Given the description of an element on the screen output the (x, y) to click on. 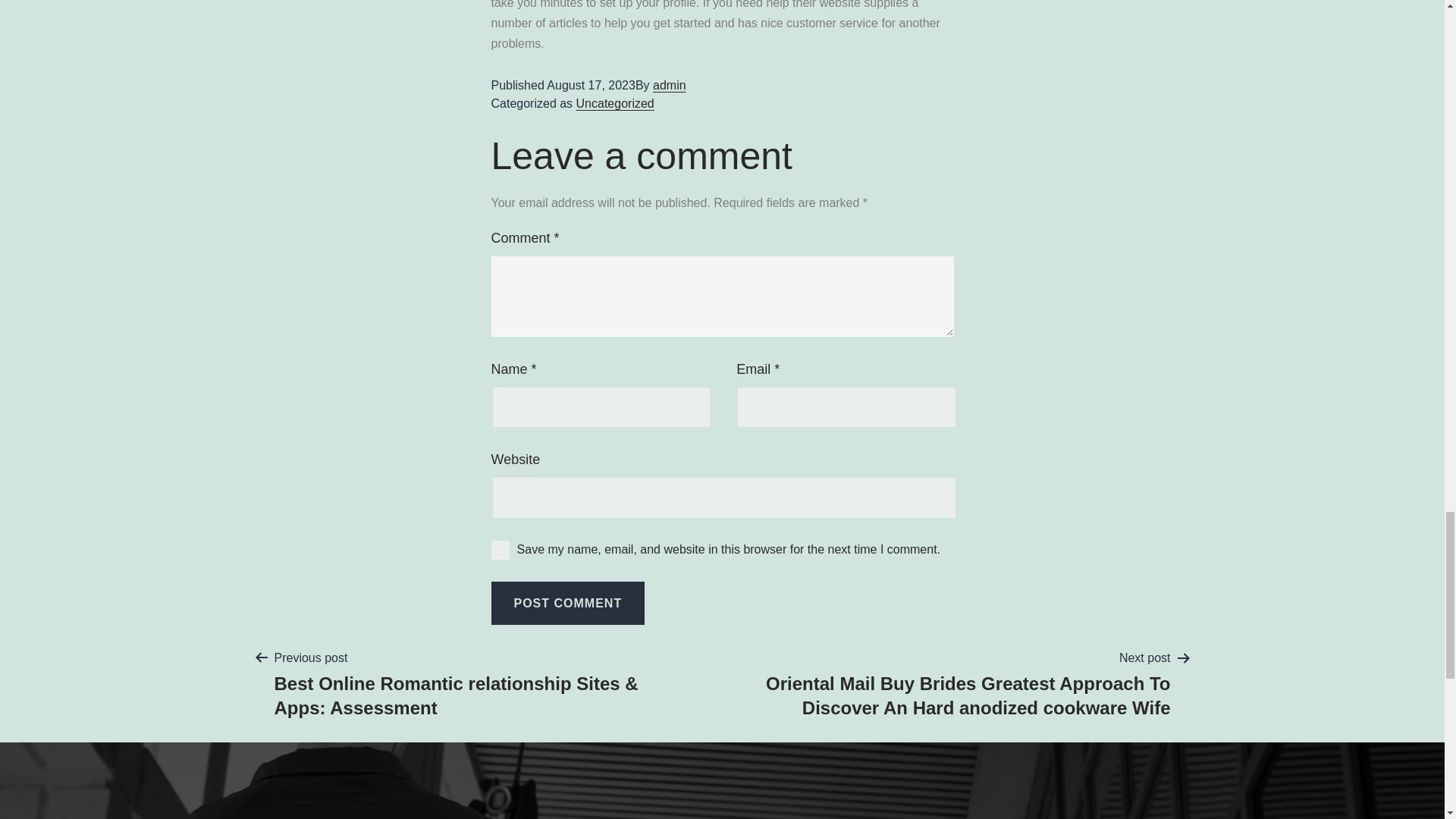
Post Comment (568, 602)
admin (668, 84)
yes (500, 549)
